Given the description of an element on the screen output the (x, y) to click on. 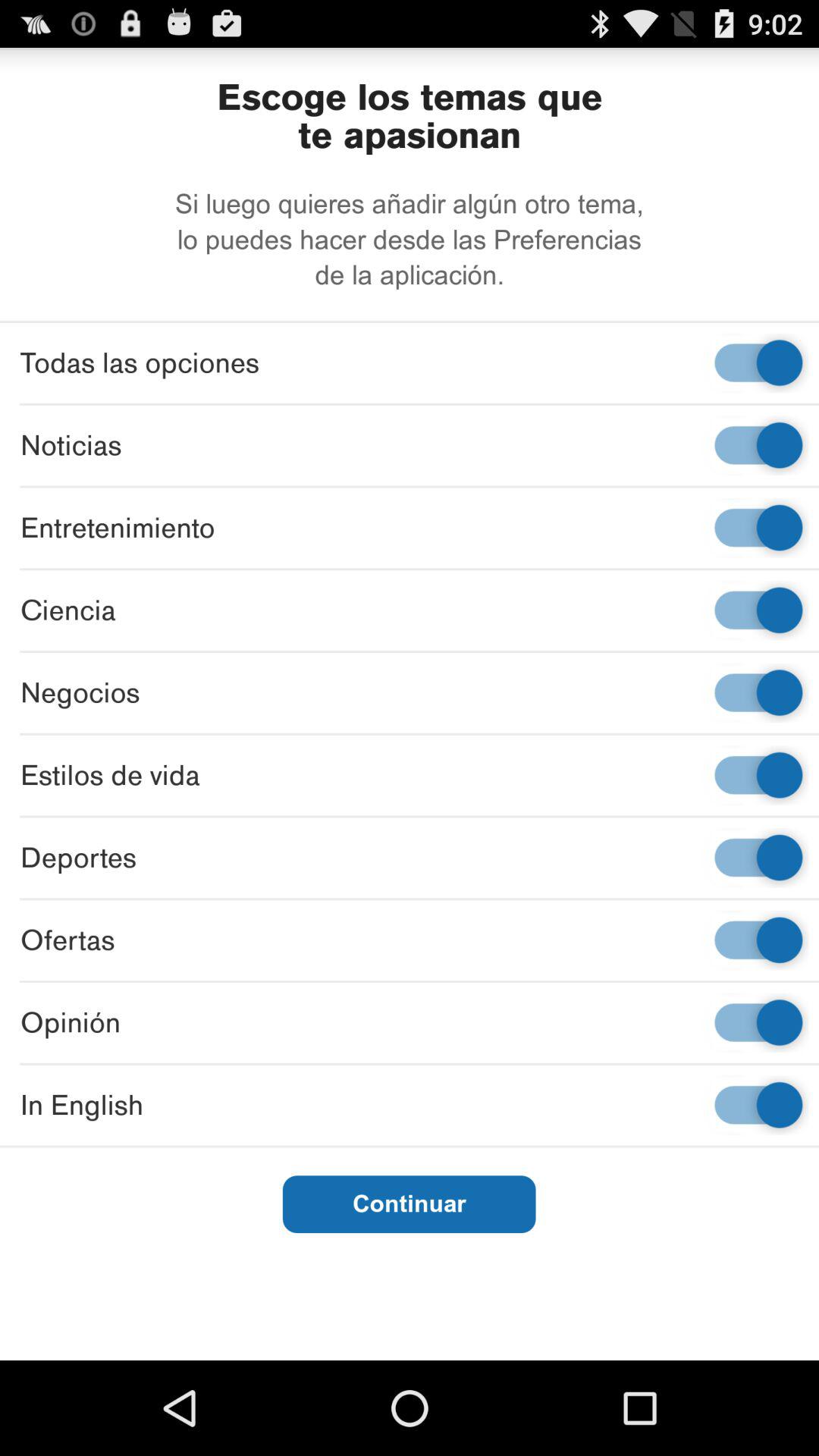
click the continuar icon (408, 1204)
